Given the description of an element on the screen output the (x, y) to click on. 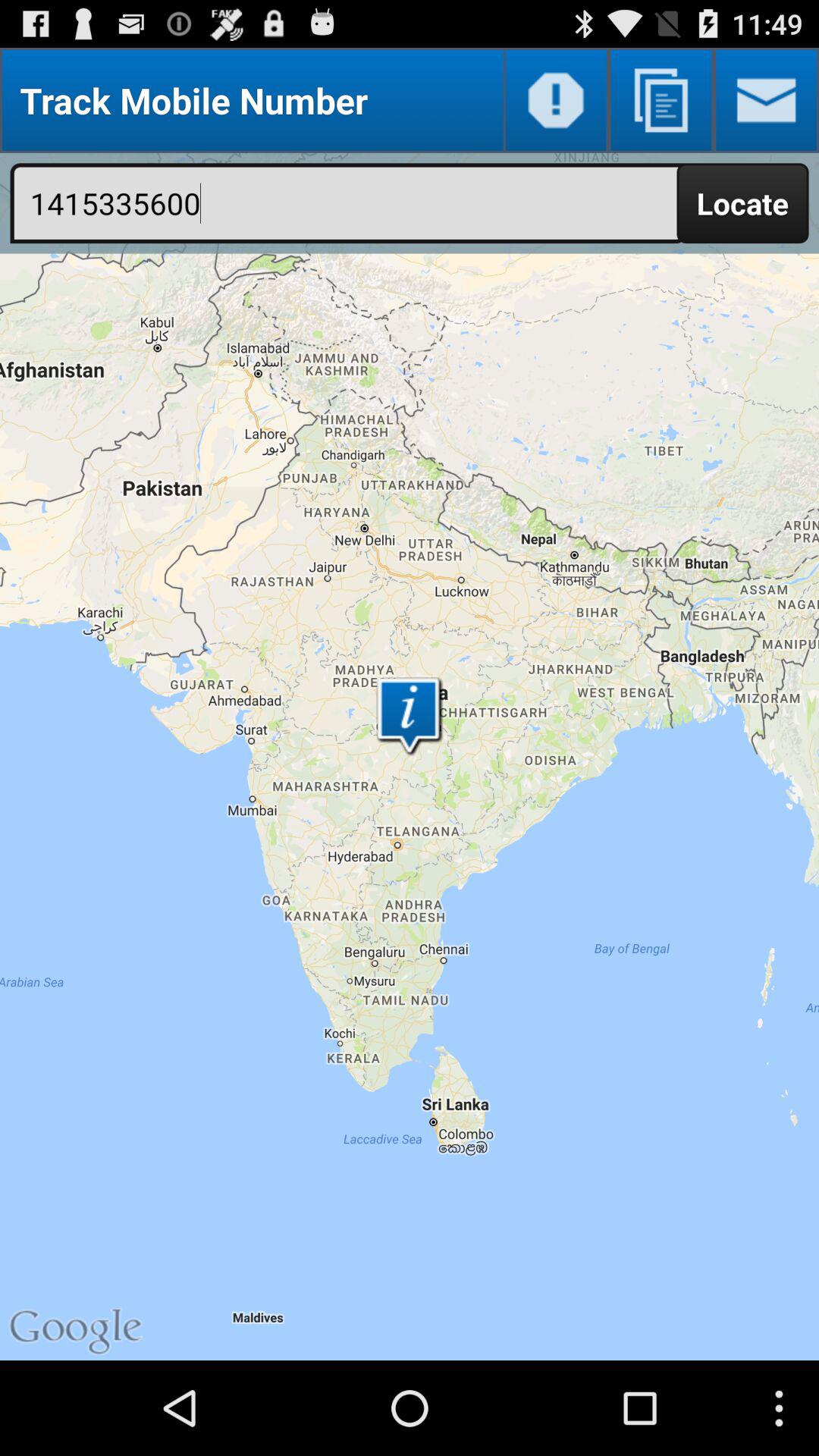
open messages (766, 99)
